Given the description of an element on the screen output the (x, y) to click on. 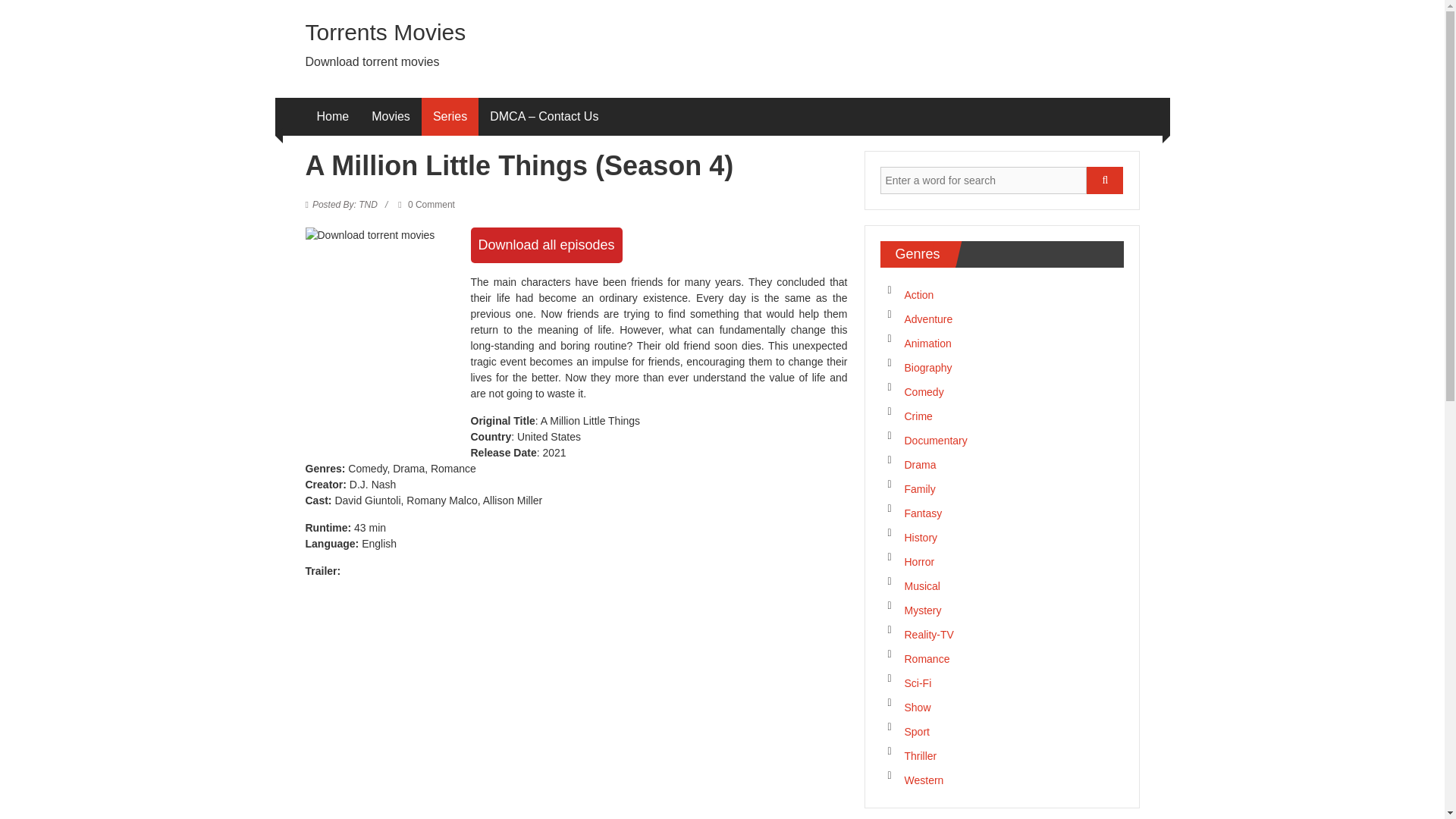
Comedy (923, 391)
Western (923, 779)
Mystery (922, 610)
0 Comment (425, 204)
Series (449, 116)
Drama (920, 464)
Show (917, 707)
Animation (927, 343)
Crime (917, 416)
Torrents Movies (384, 32)
Torrents Movies (384, 32)
Thriller (920, 756)
Romance (926, 658)
Sci-Fi (917, 683)
Action (918, 295)
